Given the description of an element on the screen output the (x, y) to click on. 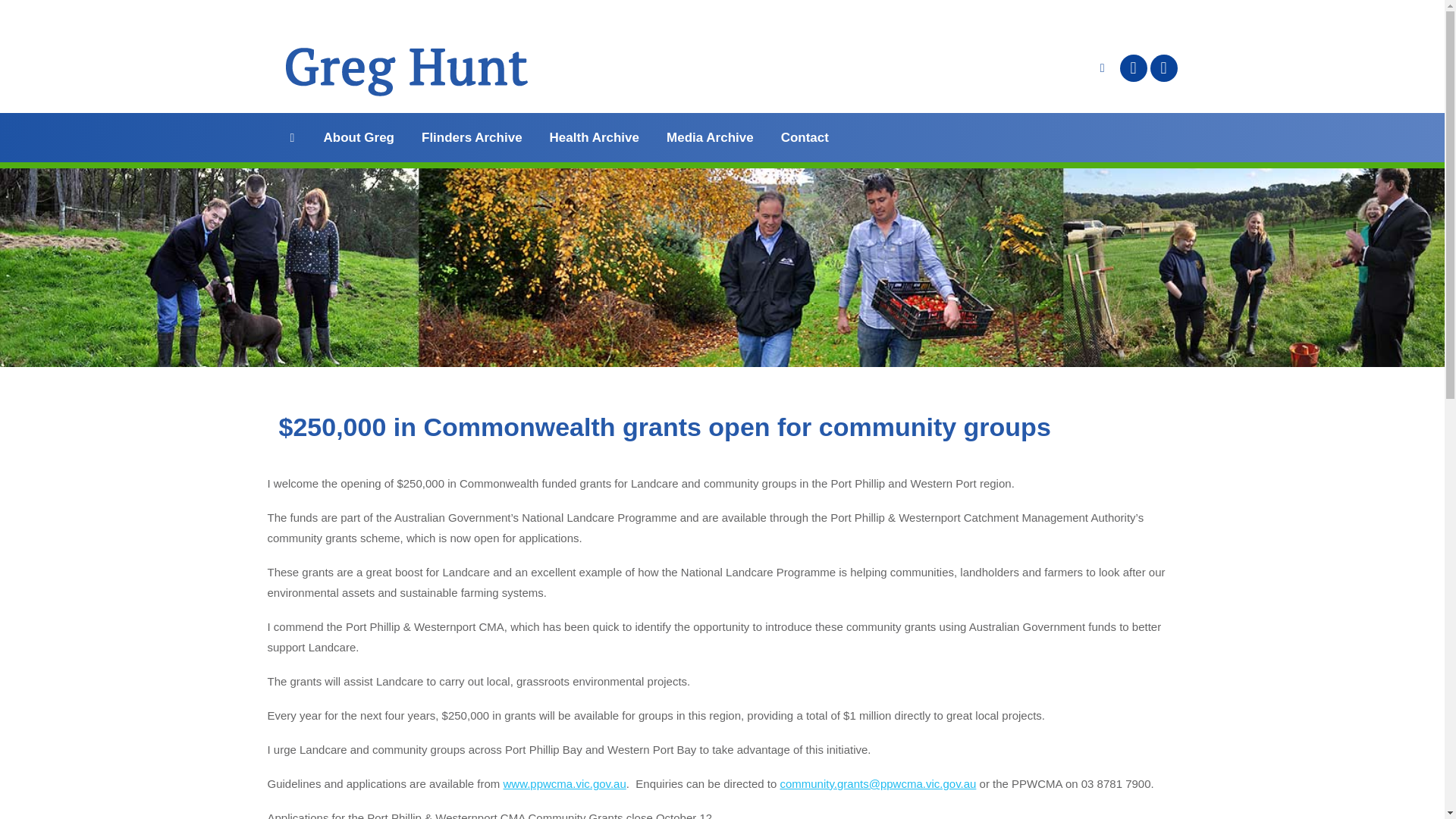
Media Archive (710, 137)
Health Archive (594, 137)
About Greg (358, 137)
Facebook page opens in new window (1133, 67)
Contact (804, 137)
X page opens in new window (1163, 67)
Flinders Archive (472, 137)
X page opens in new window (1163, 67)
Facebook page opens in new window (1133, 67)
Go! (24, 16)
